Given the description of an element on the screen output the (x, y) to click on. 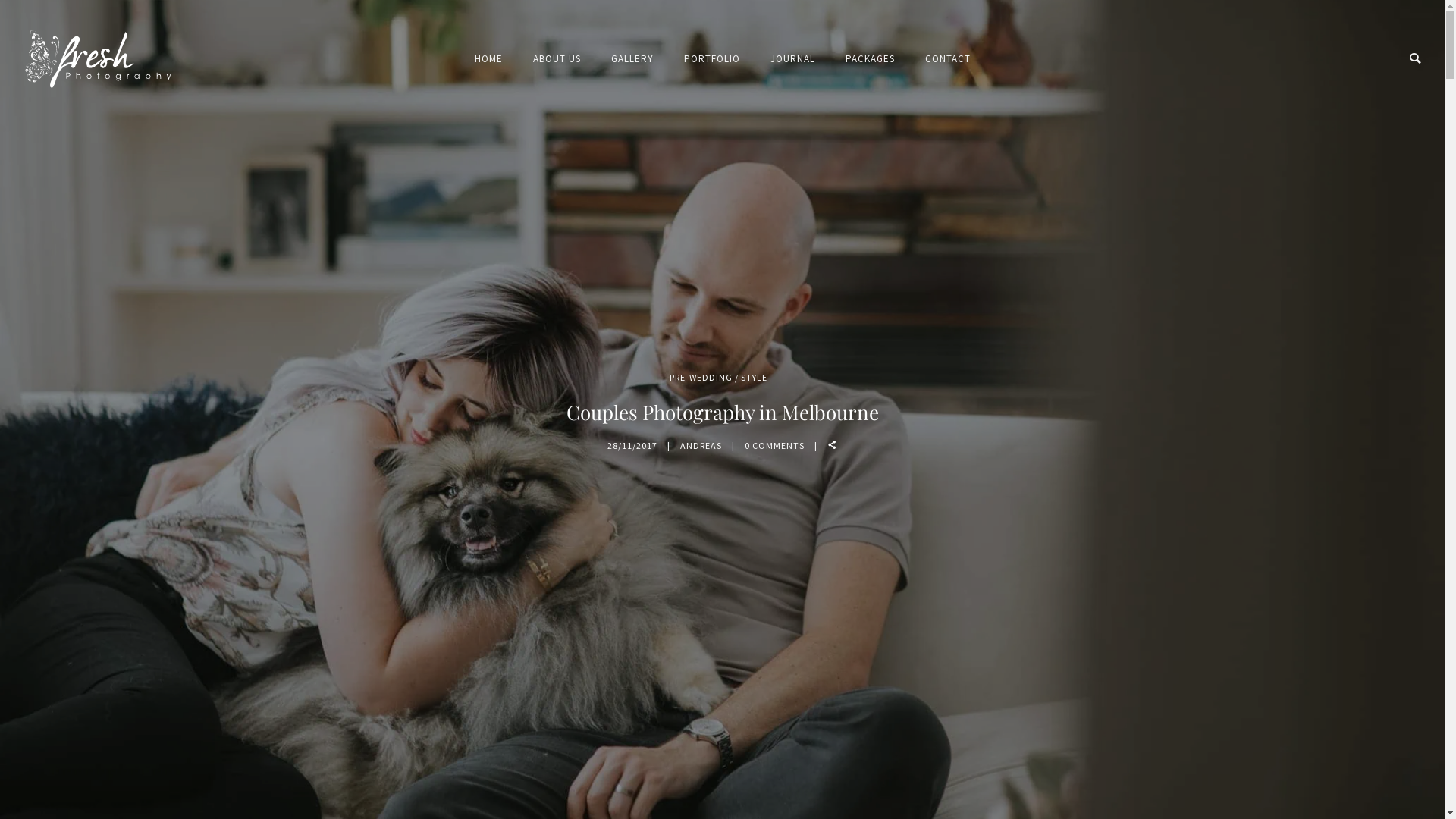
PORTFOLIO Element type: text (711, 58)
CONTACT Element type: text (947, 58)
GALLERY Element type: text (632, 58)
HOME Element type: text (488, 58)
ABOUT US Element type: text (556, 58)
PRE-WEDDING / STYLE Element type: text (718, 376)
JOURNAL Element type: text (792, 58)
PACKAGES Element type: text (869, 58)
